Given the description of an element on the screen output the (x, y) to click on. 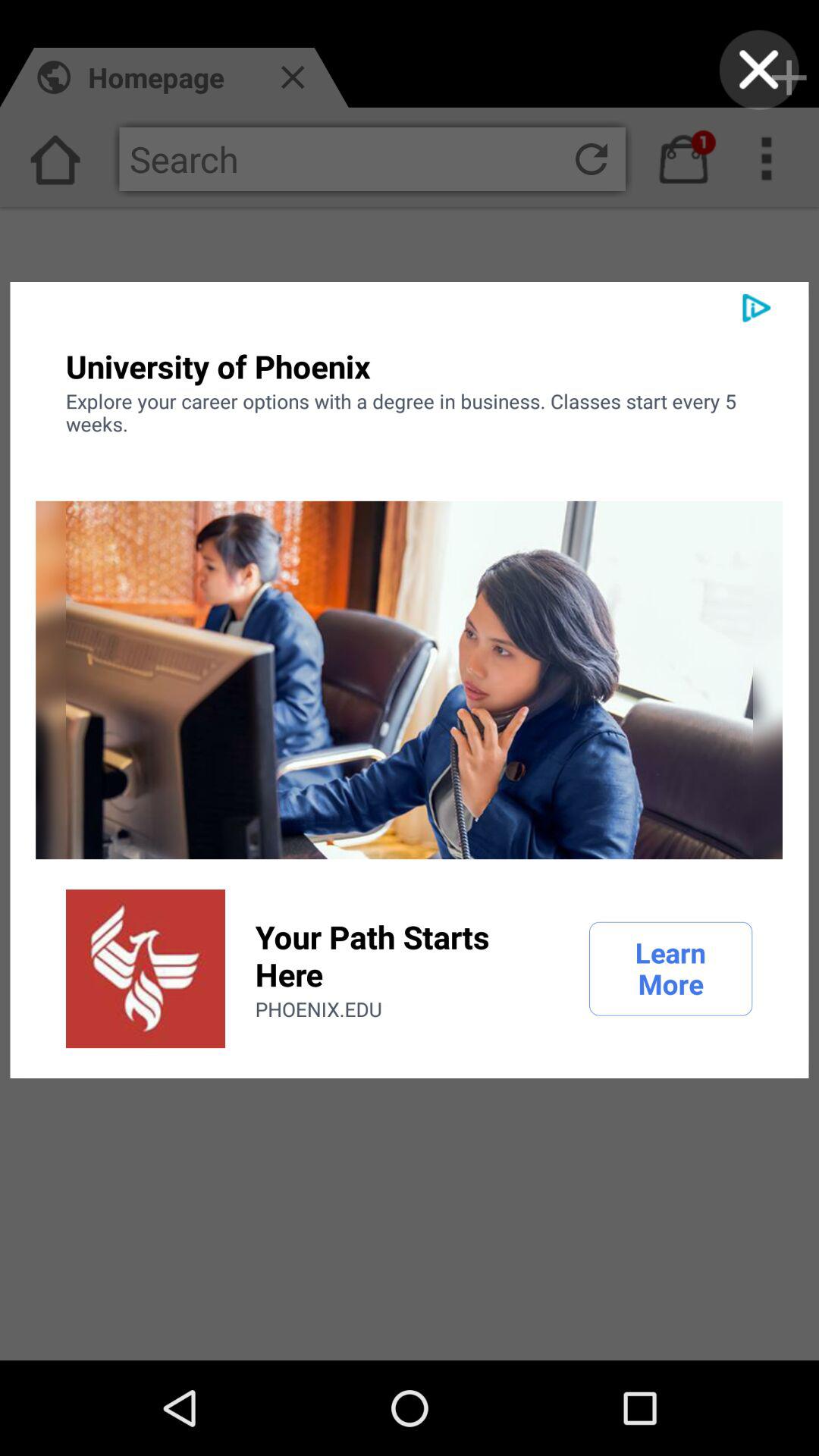
open the item next to the your path starts (145, 968)
